Given the description of an element on the screen output the (x, y) to click on. 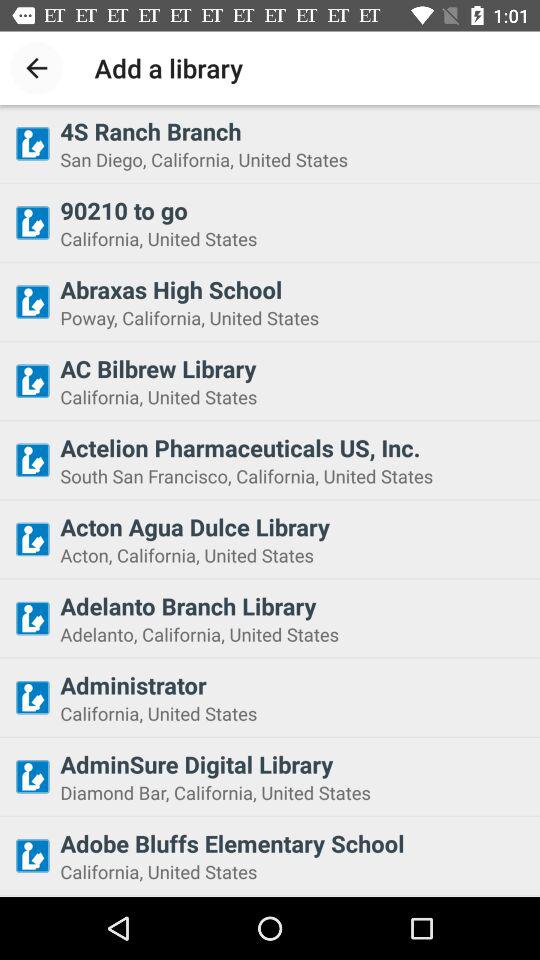
tap the poway california united (294, 317)
